Given the description of an element on the screen output the (x, y) to click on. 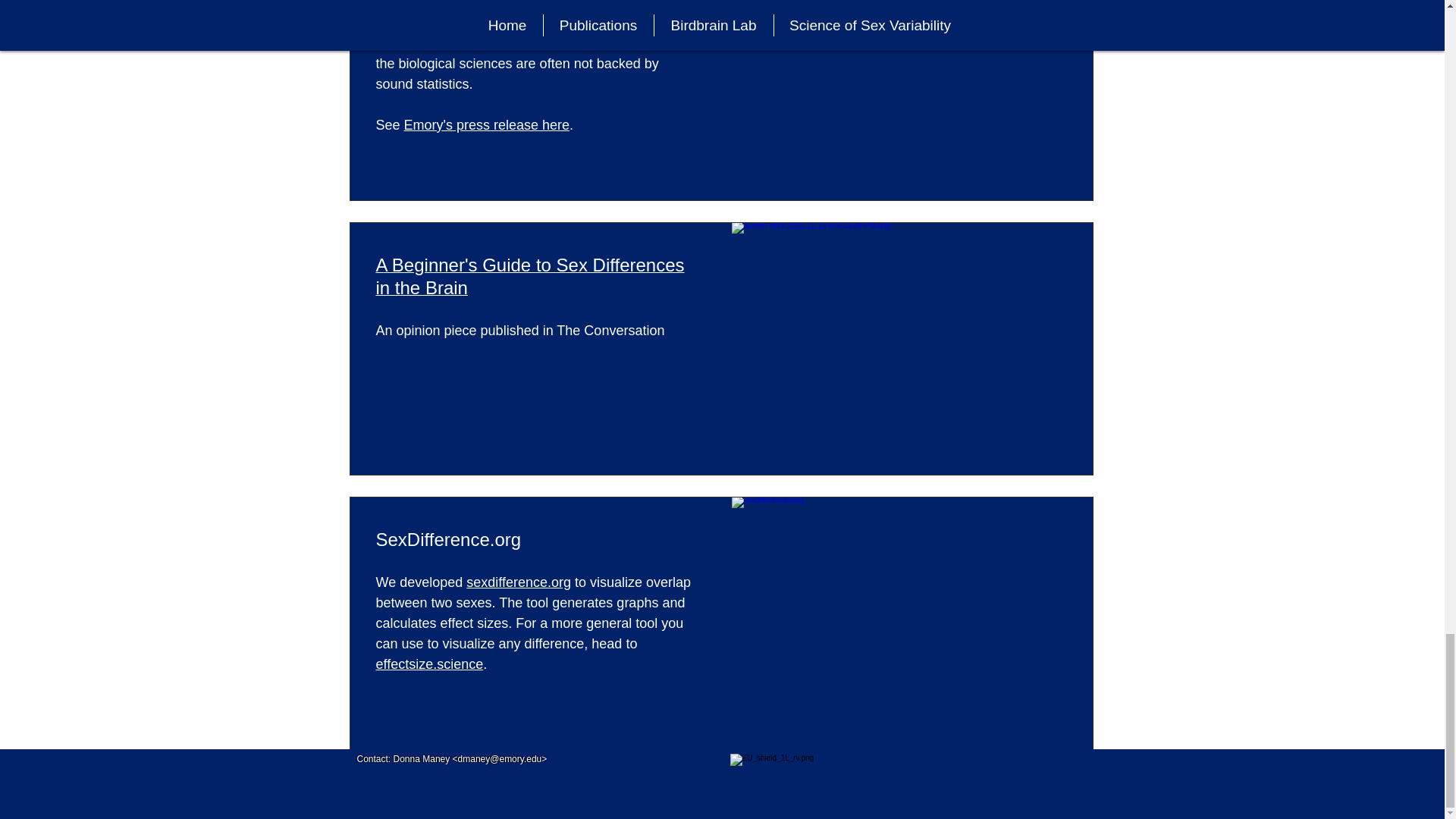
A Beginner's Guide to Sex Differences in the Brain (529, 278)
sexdifference.org (517, 581)
effectsize.science (429, 663)
Emory's press release here (487, 124)
study in eLife (416, 43)
Sex-based Data in the Spotlight (503, 3)
